Given the description of an element on the screen output the (x, y) to click on. 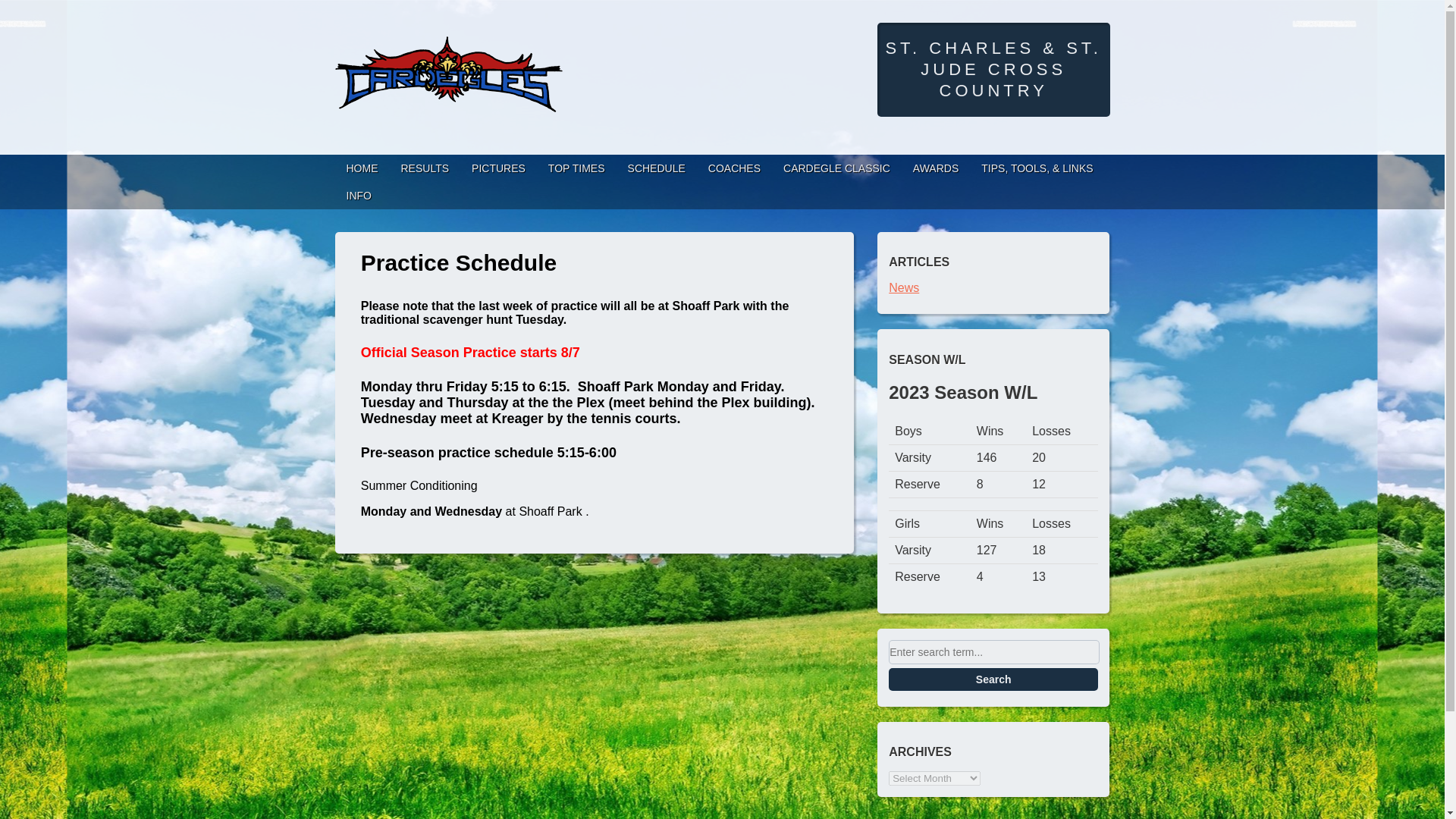
CARDEGLE CLASSIC (836, 167)
PICTURES (498, 167)
TOP TIMES (576, 167)
Search (992, 679)
Search (992, 679)
COACHES (734, 167)
HOME (362, 167)
SCHEDULE (656, 167)
RESULTS (425, 167)
INFO (358, 195)
AWARDS (935, 167)
News (903, 287)
